Given the description of an element on the screen output the (x, y) to click on. 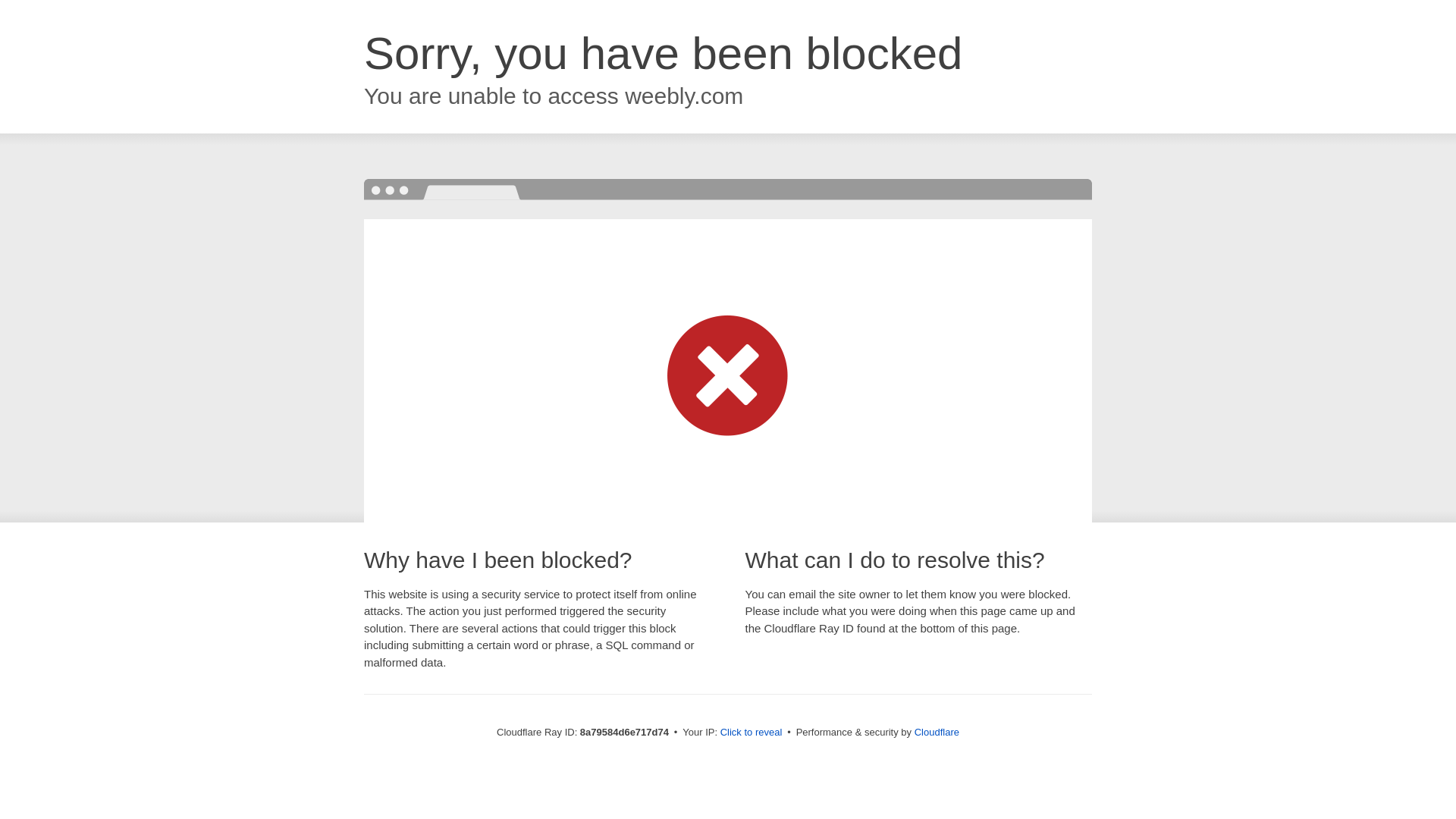
Cloudflare (936, 731)
Click to reveal (751, 732)
